Given the description of an element on the screen output the (x, y) to click on. 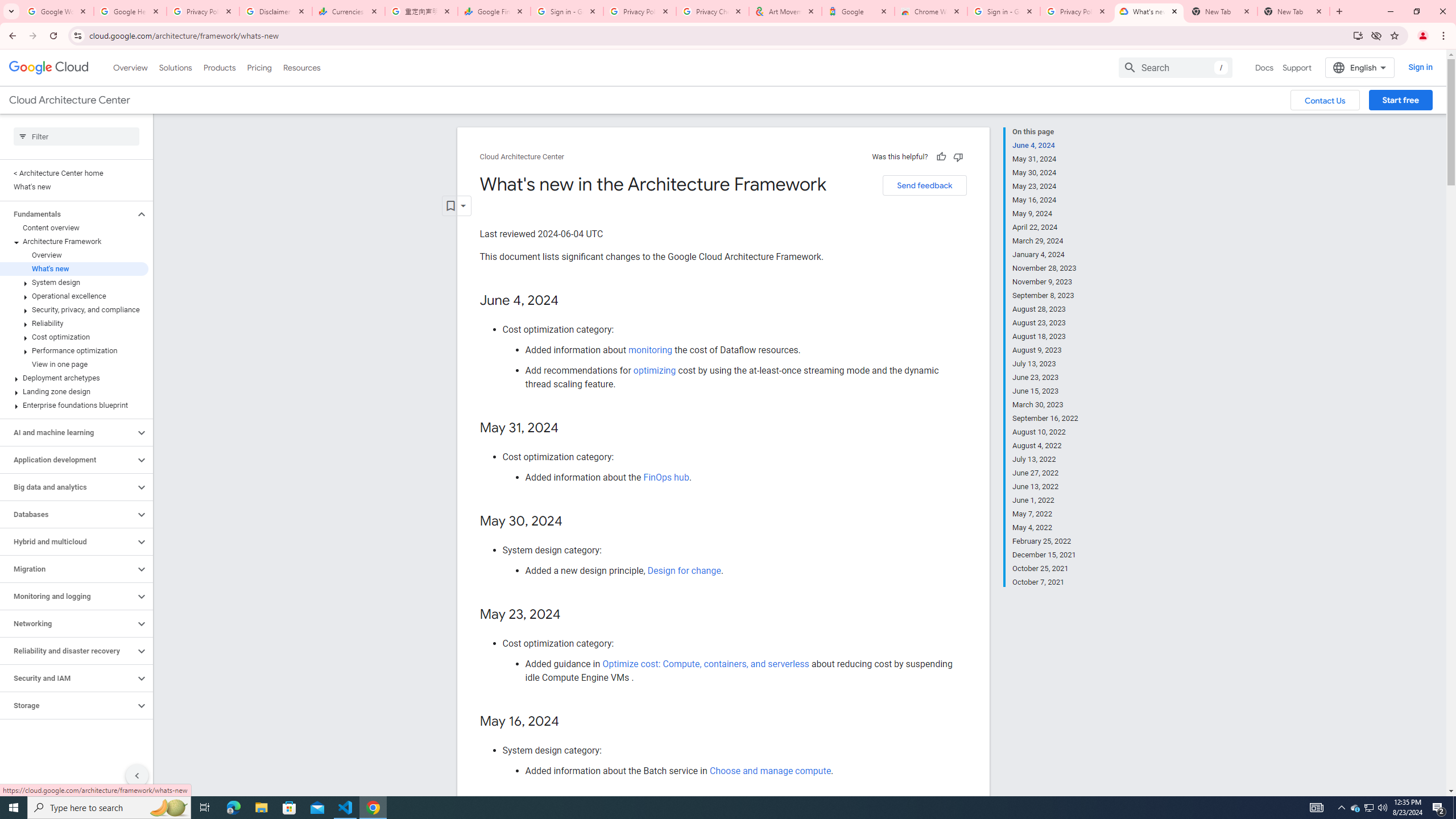
Copy link to this section: May 30, 2024 (573, 521)
Cost optimization (74, 336)
May 30, 2024 (1044, 172)
August 28, 2023 (1044, 309)
What's new (74, 269)
March 30, 2023 (1044, 404)
August 18, 2023 (1044, 336)
Send feedback (924, 185)
July 13, 2023 (1044, 364)
Reliability and disaster recovery (67, 650)
